Given the description of an element on the screen output the (x, y) to click on. 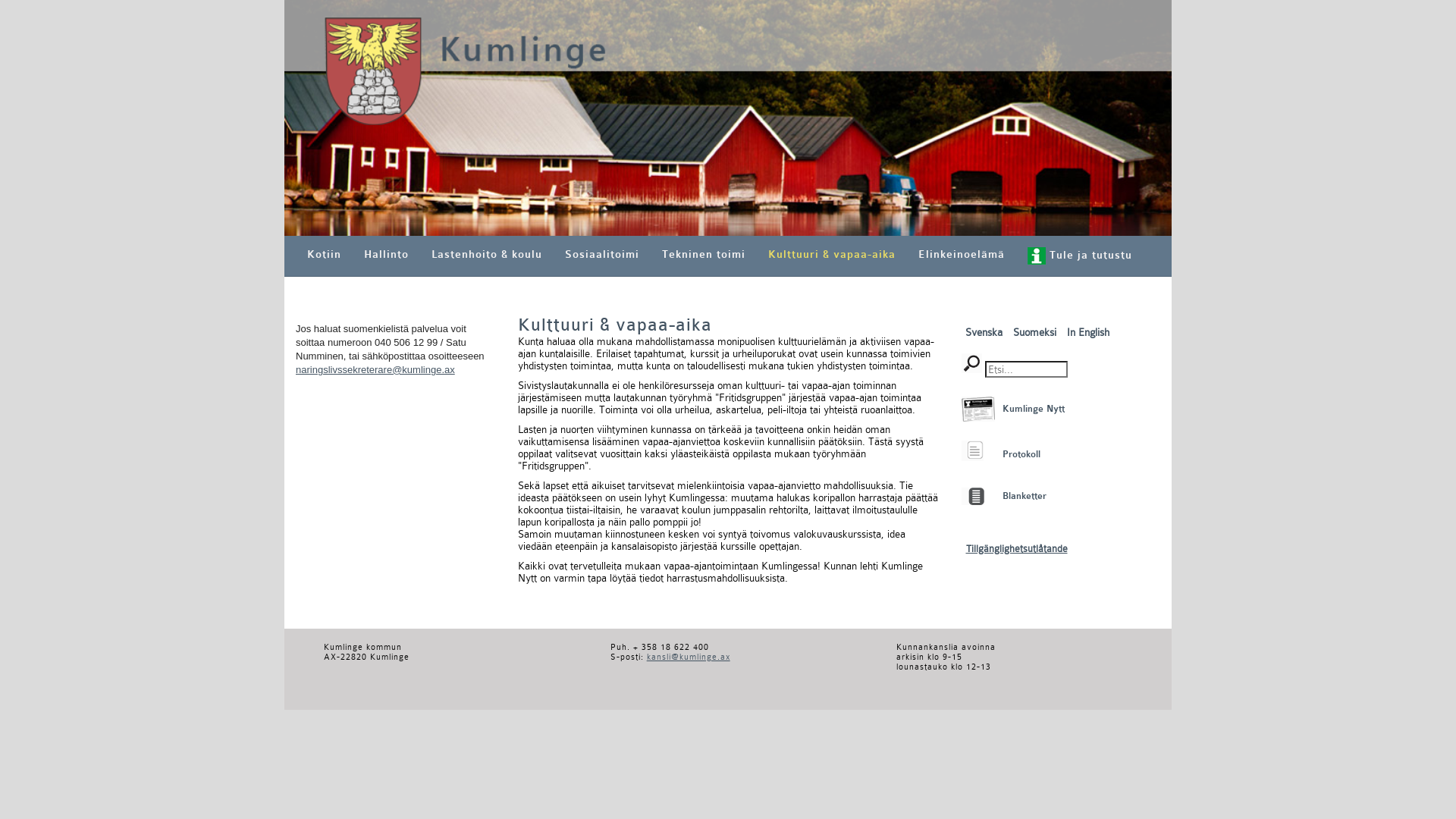
Kumlinge Nytt Element type: hover (977, 408)
Svenska Element type: text (984, 332)
Tekninen toimi Element type: text (703, 254)
Kumlinge Nytt Element type: text (1033, 408)
Hallinto Element type: text (386, 254)
Suomeksi Element type: text (1036, 332)
In English Element type: text (1087, 332)
Blanketter Element type: text (1024, 495)
Kotiin Element type: text (323, 254)
kansli@kumlinge.ax Element type: text (688, 657)
Tule ja tutustu Element type: text (1079, 255)
naringslivssekreterare@kumlinge.ax Element type: text (375, 369)
Kulttuuri & vapaa-aika Element type: text (831, 254)
Kumlinge kommun Element type: hover (727, 117)
Lastenhoito & koulu Element type: text (486, 254)
Protokoll Element type: hover (972, 450)
blanketter Element type: hover (972, 496)
Sosiaalitoimi Element type: text (601, 254)
Protokoll Element type: text (1021, 453)
